Given the description of an element on the screen output the (x, y) to click on. 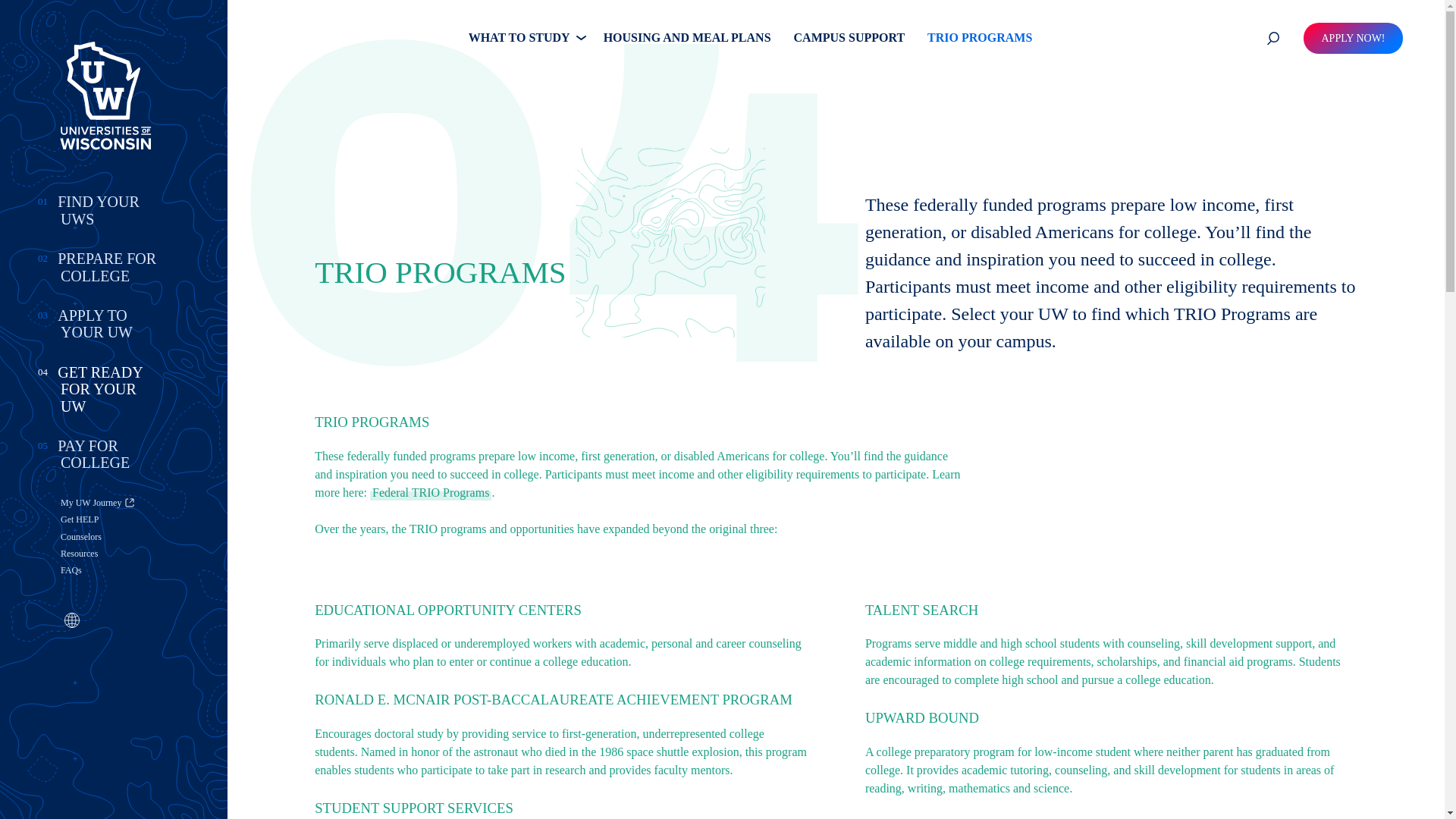
Counselors (112, 536)
Federal TRIO Programs (430, 491)
FIND YOUR UWS (112, 210)
TRIO PROGRAMS (979, 37)
CAMPUS SUPPORT (849, 37)
PREPARE FOR COLLEGE (112, 267)
APPLY NOW! (1352, 38)
Resources (112, 553)
PAY FOR COLLEGE (112, 454)
FAQs (112, 569)
My UW Journey (112, 502)
GET READY FOR YOUR UW (112, 388)
Get HELP (112, 519)
WHAT TO STUDY (524, 37)
HOUSING AND MEAL PLANS (687, 37)
